Given the description of an element on the screen output the (x, y) to click on. 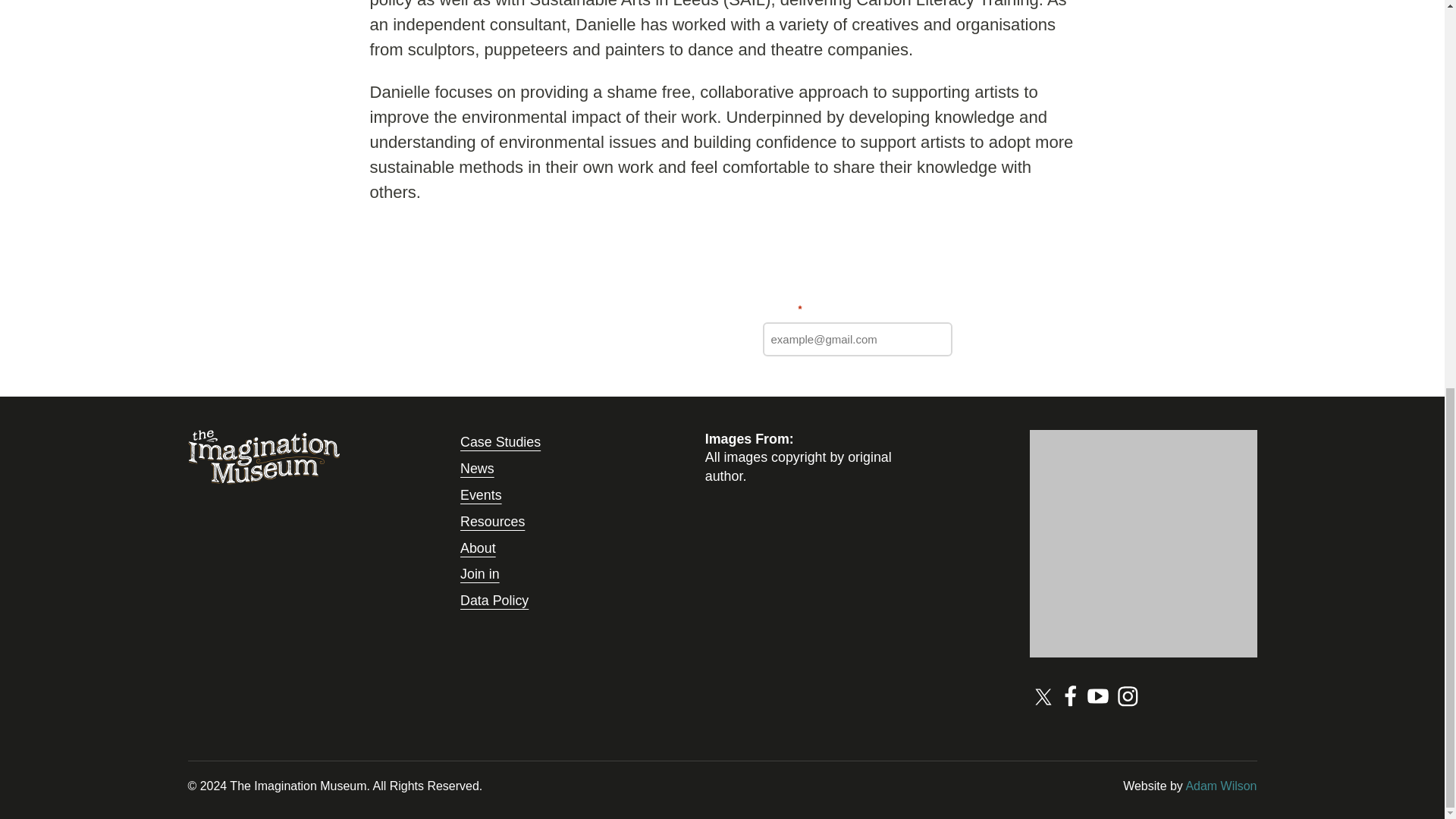
Data Policy (494, 600)
Join in (479, 573)
Resources (492, 521)
News (477, 468)
Sign Up (1000, 339)
Events (481, 494)
Adam Wilson (1220, 785)
Case Studies (500, 441)
Sign Up (1000, 339)
About (478, 548)
